Given the description of an element on the screen output the (x, y) to click on. 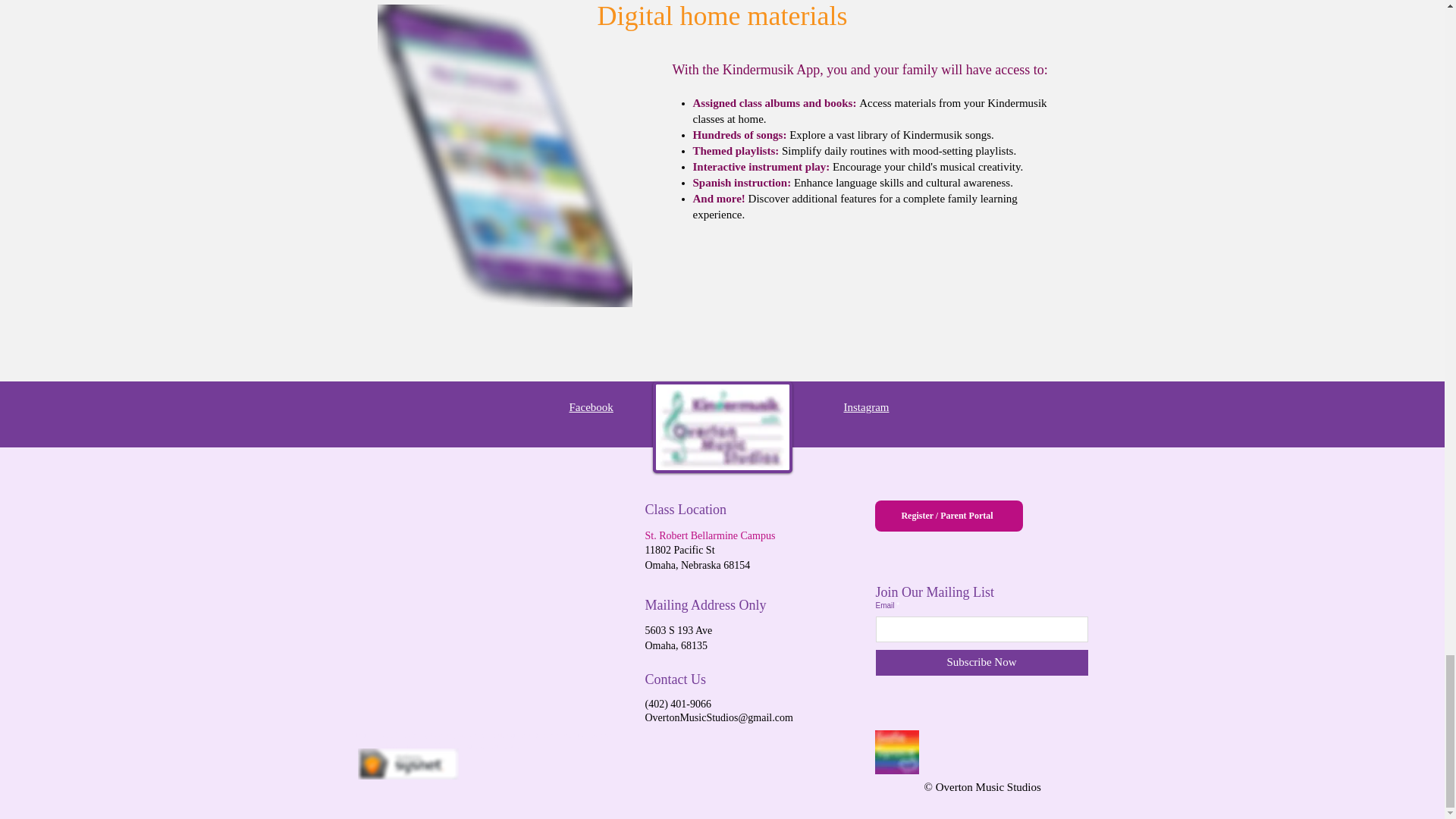
Google Maps (489, 606)
Facebook (590, 407)
Instagram (865, 407)
Subscribe Now (981, 662)
